Given the description of an element on the screen output the (x, y) to click on. 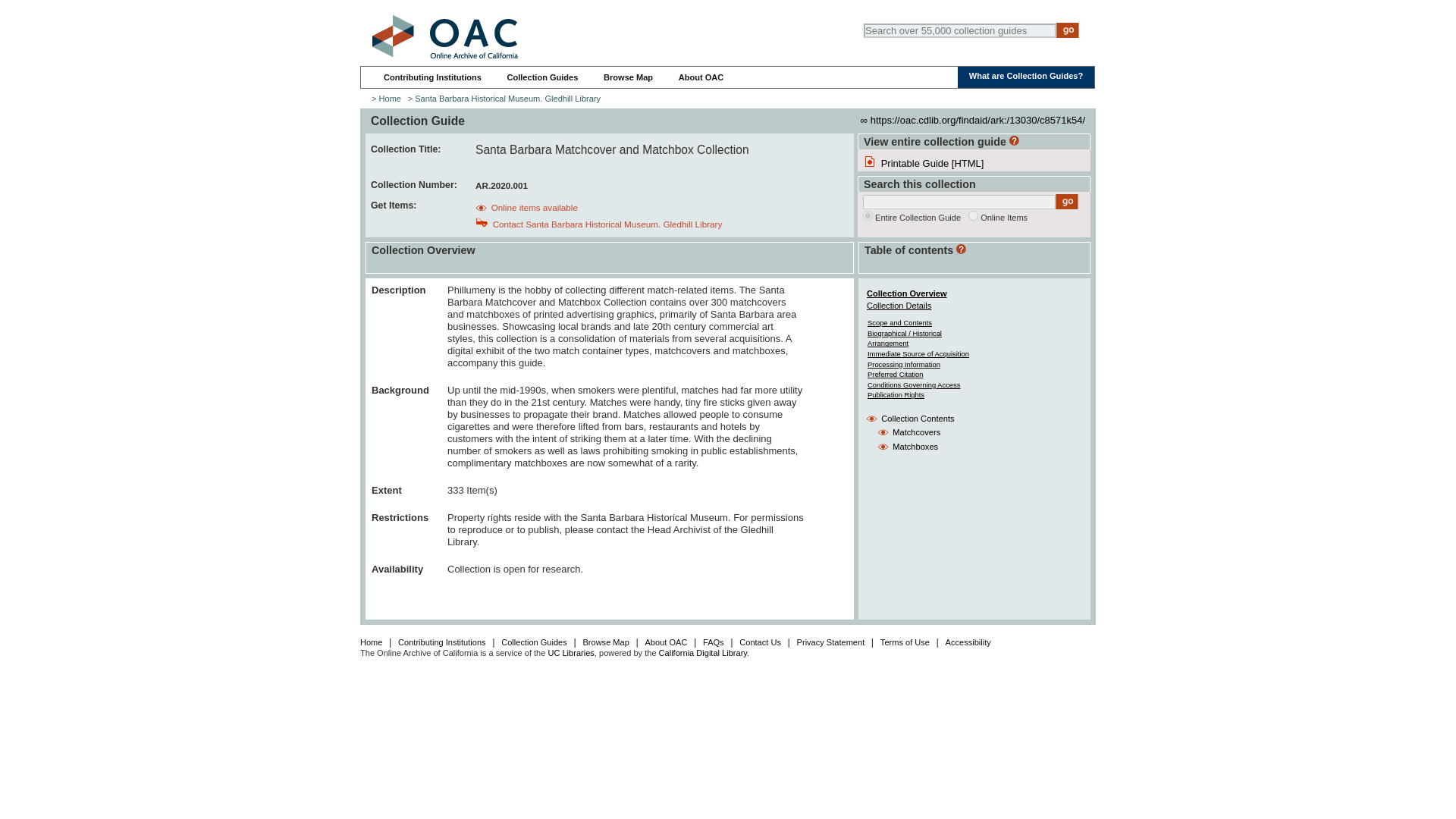
Search (1067, 29)
Search (1067, 29)
Matchcovers (916, 431)
Matchboxes (914, 446)
Preferred Citation (895, 374)
What are Collection Guides? (1026, 75)
Collection Details (898, 305)
Immediate Source of Acquisition (918, 353)
About OAC (700, 76)
Conditions Governing Access (913, 384)
Search (1066, 201)
Arrangement (887, 343)
Go (1066, 201)
Go (1067, 29)
search (973, 215)
